Given the description of an element on the screen output the (x, y) to click on. 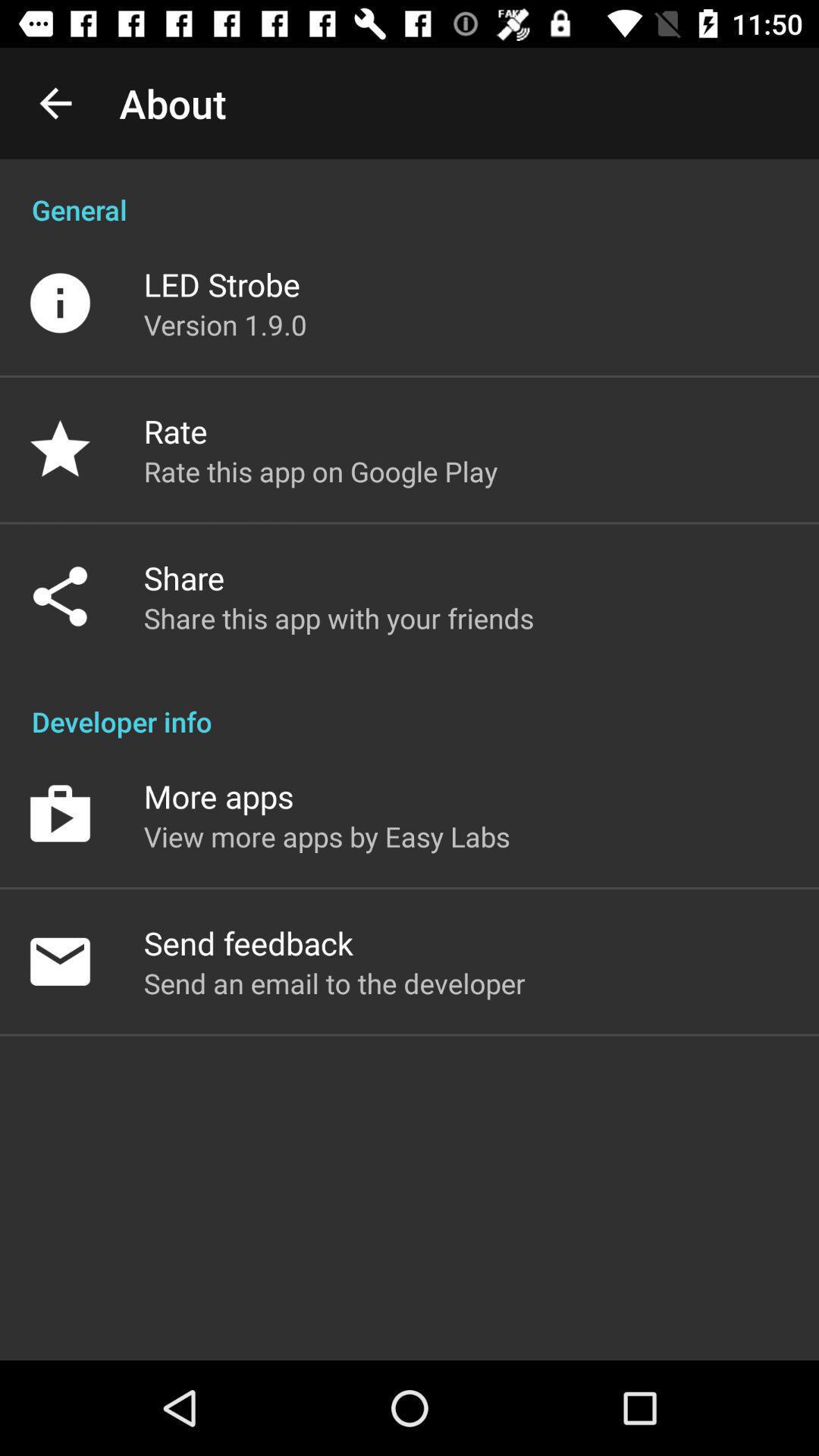
choose the item below the send feedback item (334, 983)
